Given the description of an element on the screen output the (x, y) to click on. 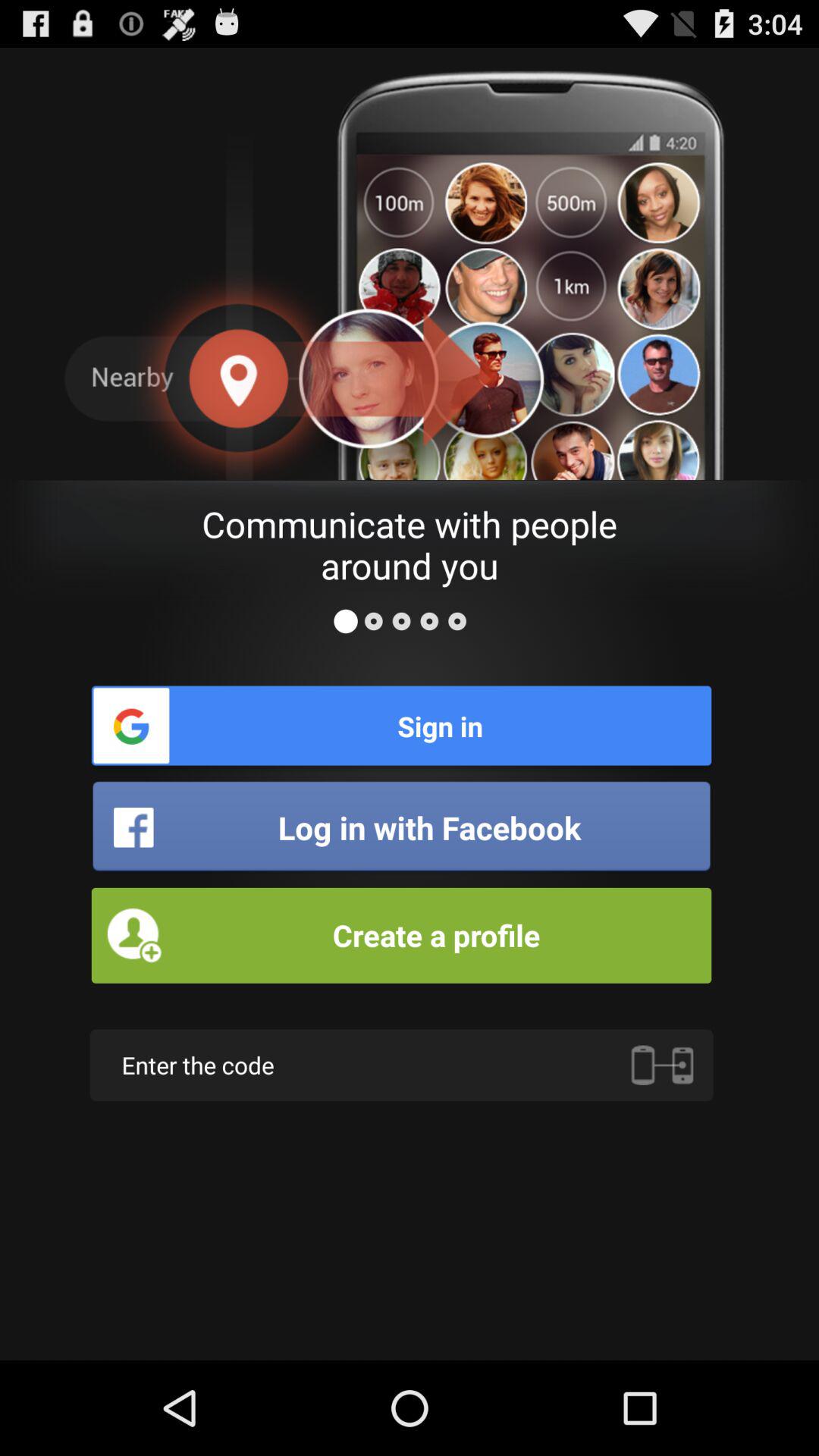
click create a profile button (401, 935)
